Given the description of an element on the screen output the (x, y) to click on. 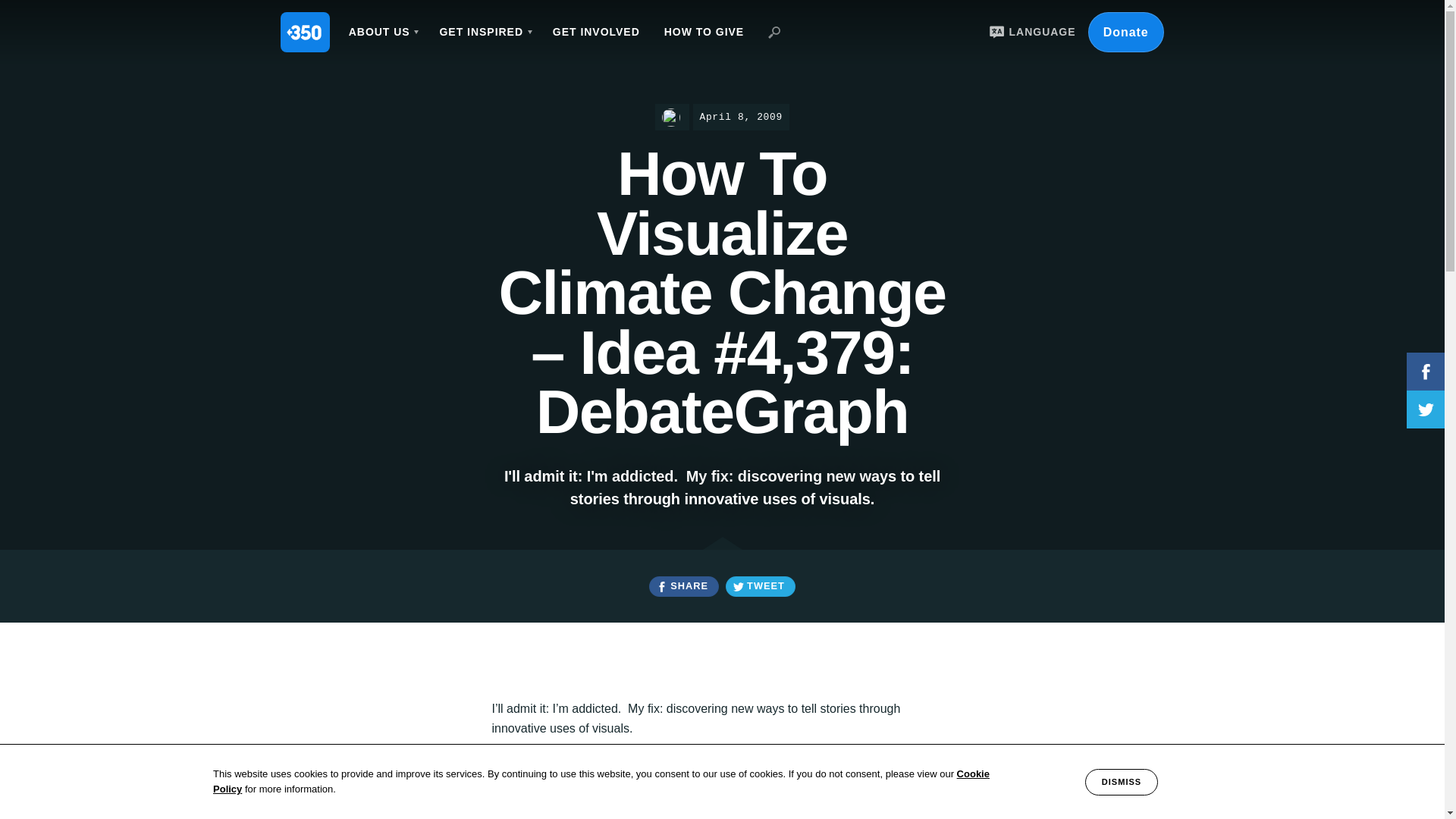
LANGUAGE (1029, 32)
GET INSPIRED (483, 32)
350 (305, 32)
HOW TO GIVE (703, 32)
SHARE (683, 586)
Donate (1125, 32)
ABOUT US (382, 32)
TWEET (759, 586)
GET INVOLVED (596, 32)
